Given the description of an element on the screen output the (x, y) to click on. 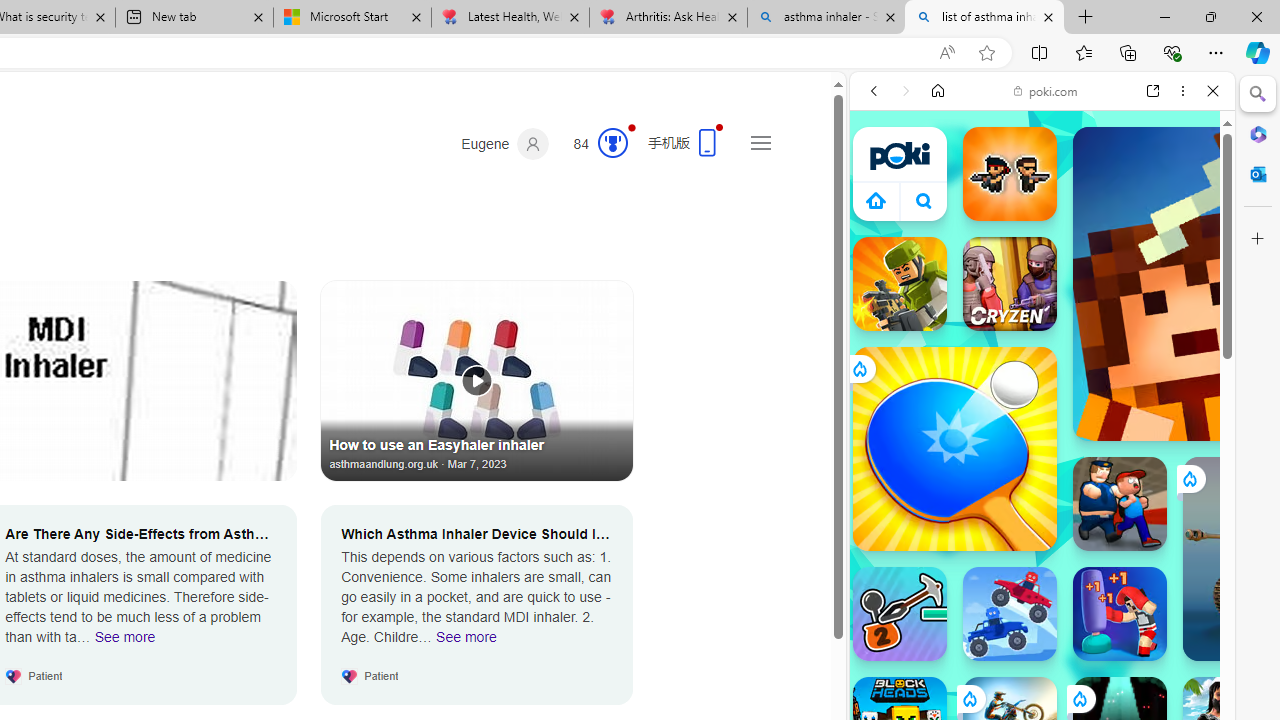
AutomationID: serp_medal_svg (612, 142)
Search Filter, WEB (882, 228)
Io Games (1042, 616)
Shooting Games (1042, 519)
Io Games (1042, 617)
Settings and quick links (760, 142)
Arthritis: Ask Health Professionals (668, 17)
